Given the description of an element on the screen output the (x, y) to click on. 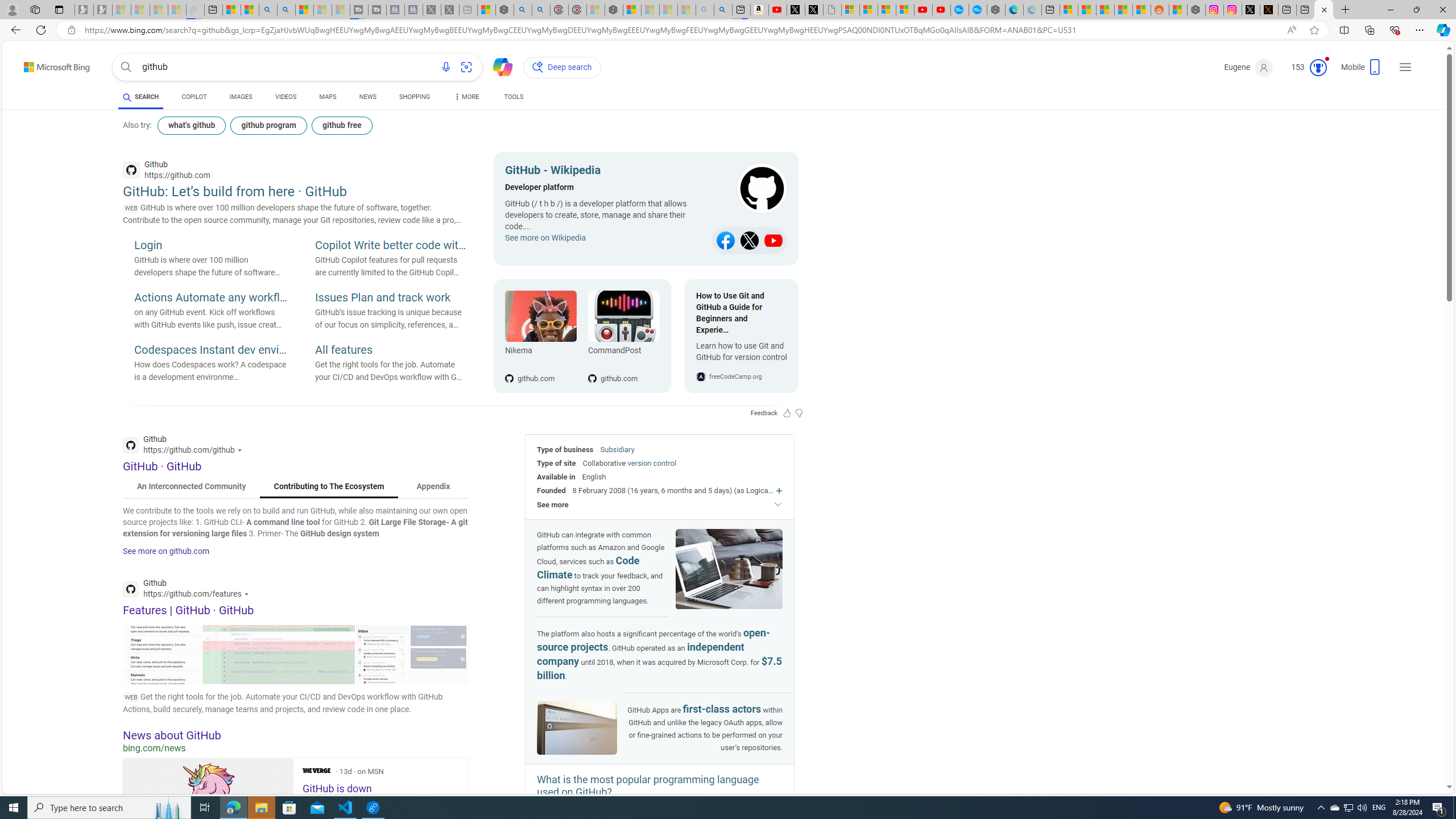
Log in to X / X (1251, 9)
IMAGES (240, 96)
Subsidiary (616, 449)
MAPS (327, 98)
Nordace - Nordace has arrived Hong Kong (996, 9)
Newsletter Sign Up - Sleeping (102, 9)
Dropdown Menu (465, 96)
COPILOT (193, 98)
YouTube Kids - An App Created for Kids to Explore Content (941, 9)
